Given the description of an element on the screen output the (x, y) to click on. 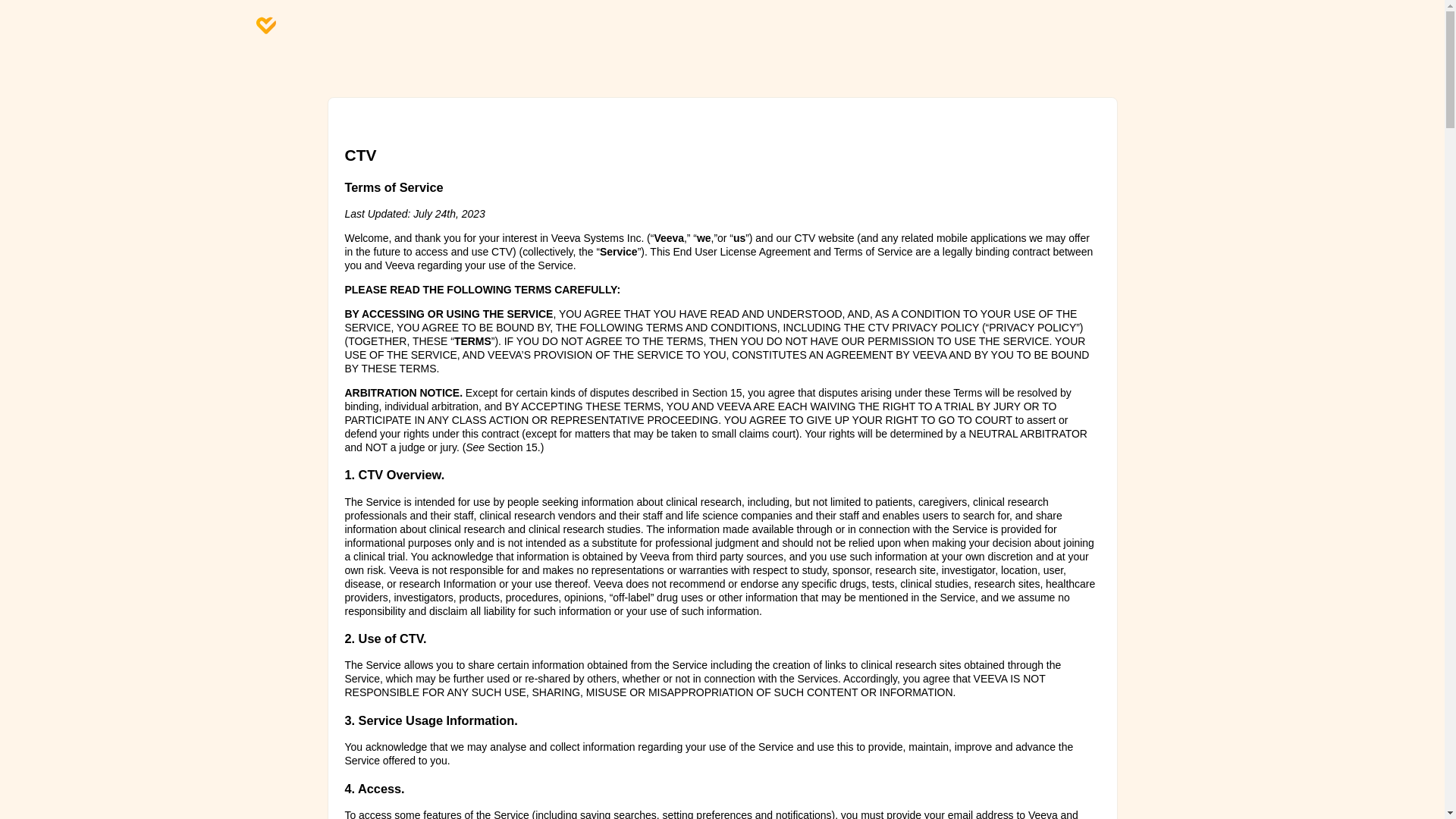
ClinicalTrials.Veeva (264, 30)
ClinicalTrials.Veeva (264, 25)
